Given the description of an element on the screen output the (x, y) to click on. 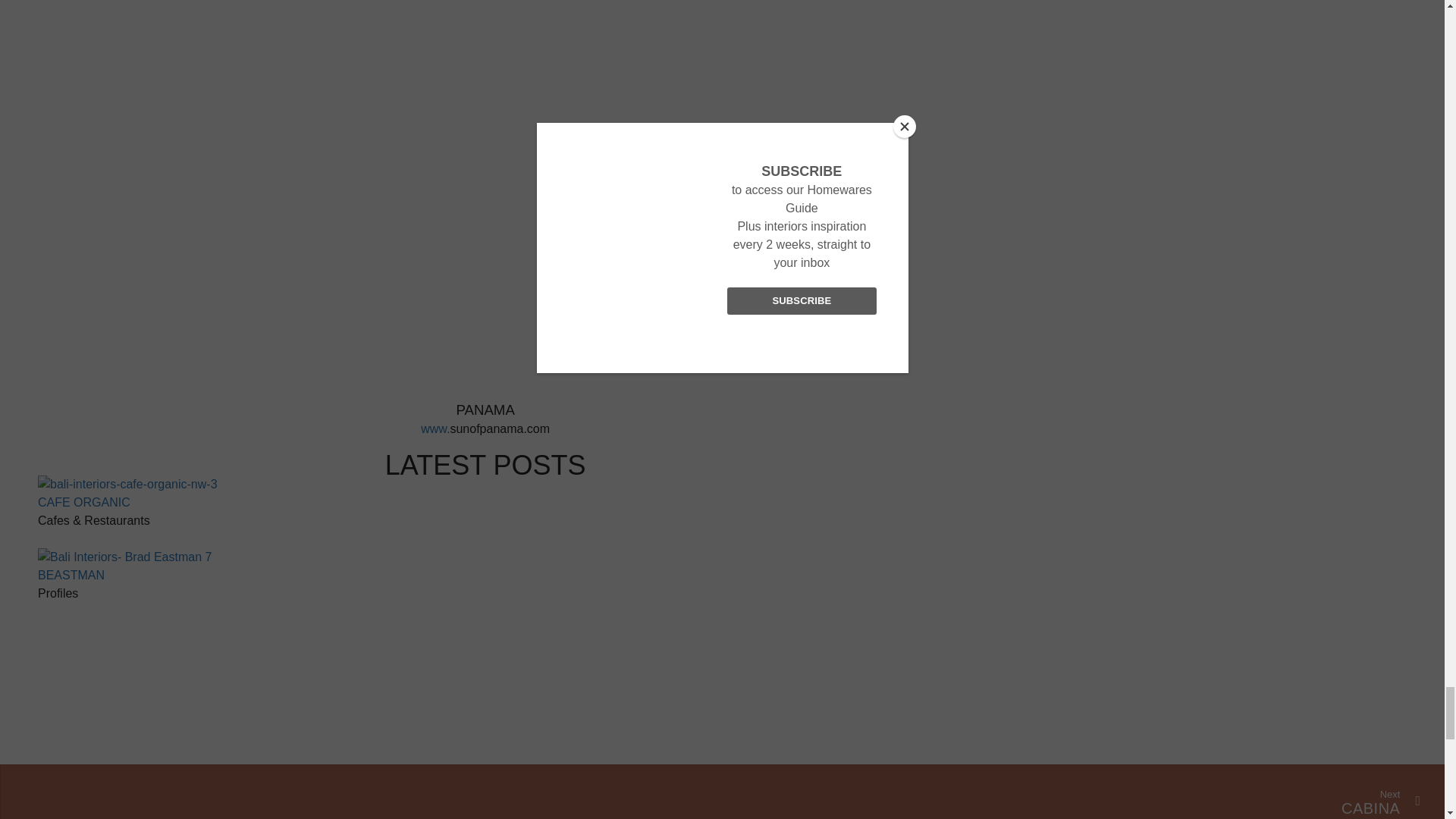
CAFE ORGANIC (84, 502)
BEASTMAN (70, 574)
www. (434, 428)
CAFE ORGANIC (84, 502)
BEASTMAN (70, 574)
